Given the description of an element on the screen output the (x, y) to click on. 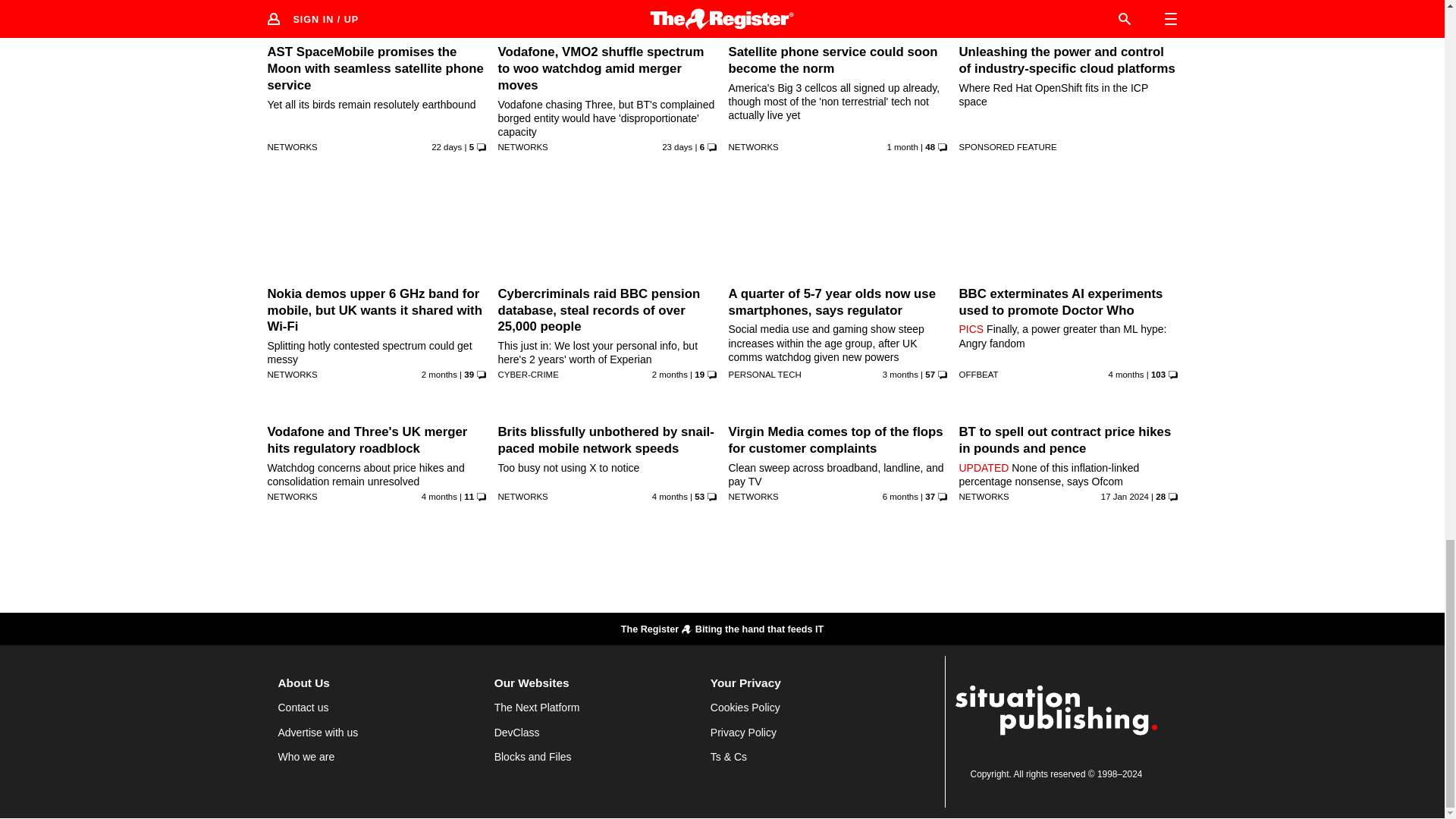
5 Jun 2024 10:27 (439, 374)
20 Mar 2024 9:30 (669, 496)
4 Jul 2024 12:46 (445, 146)
4 Apr 2024 11:30 (439, 496)
19 Jun 2024 14:30 (901, 146)
30 May 2024 14:2 (669, 374)
27 Mar 2024 5:30 (1125, 374)
3 Jul 2024 12:37 (677, 146)
19 Apr 2024 12:0 (900, 374)
